Given the description of an element on the screen output the (x, y) to click on. 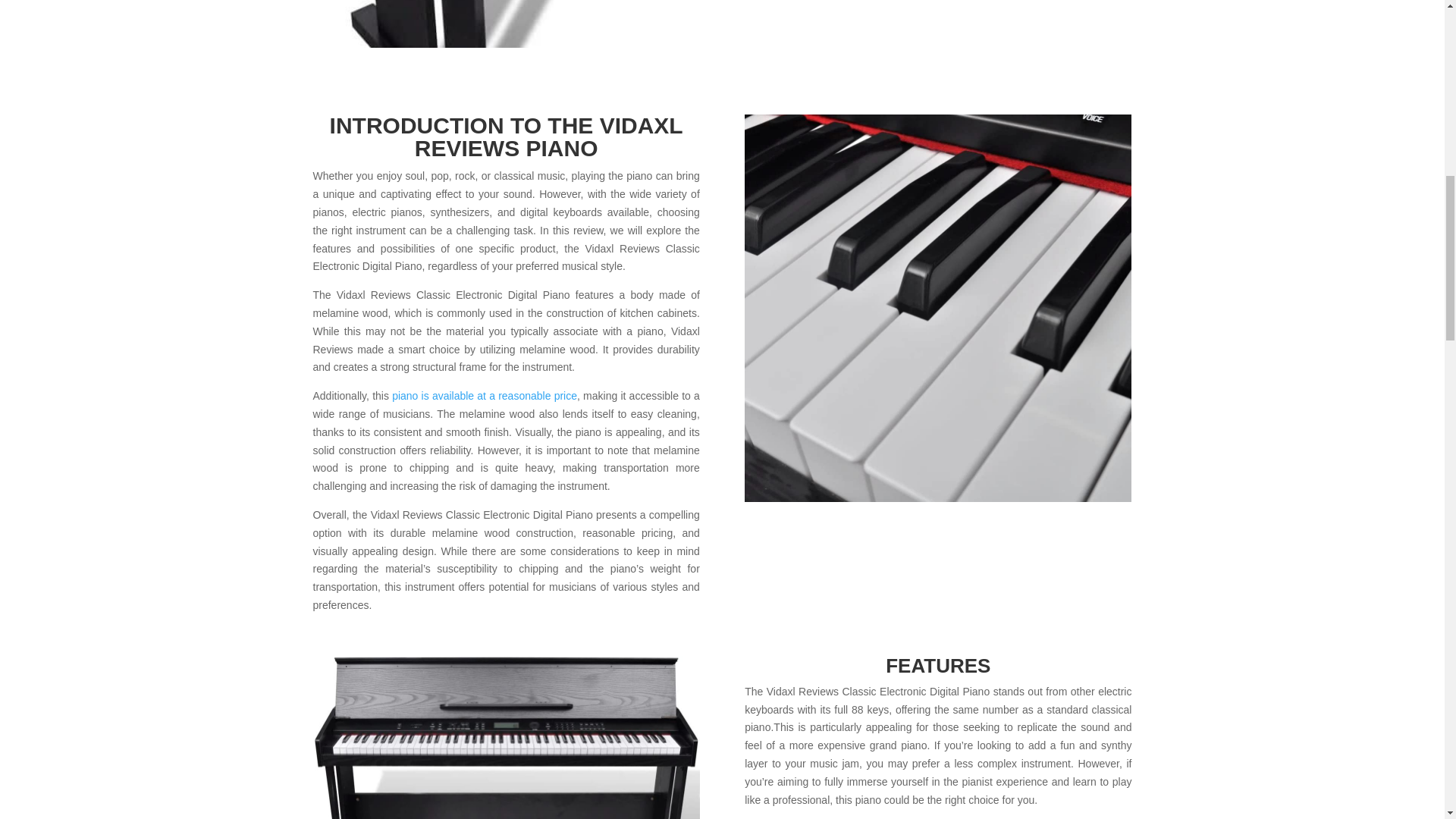
piano is available at a reasonable price (483, 395)
Vidaxl Reviews (505, 737)
